Given the description of an element on the screen output the (x, y) to click on. 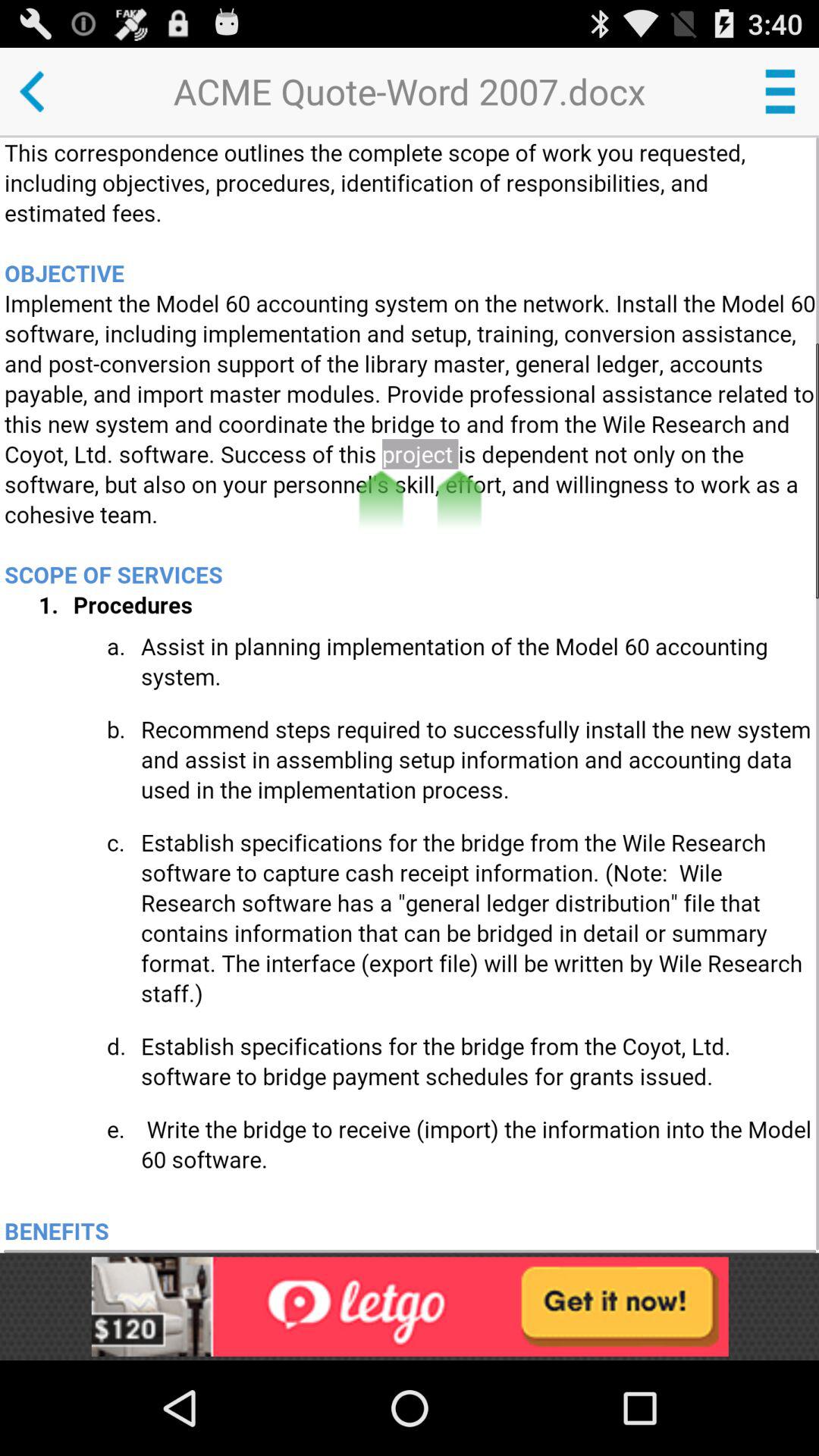
advertisement (409, 1306)
